Given the description of an element on the screen output the (x, y) to click on. 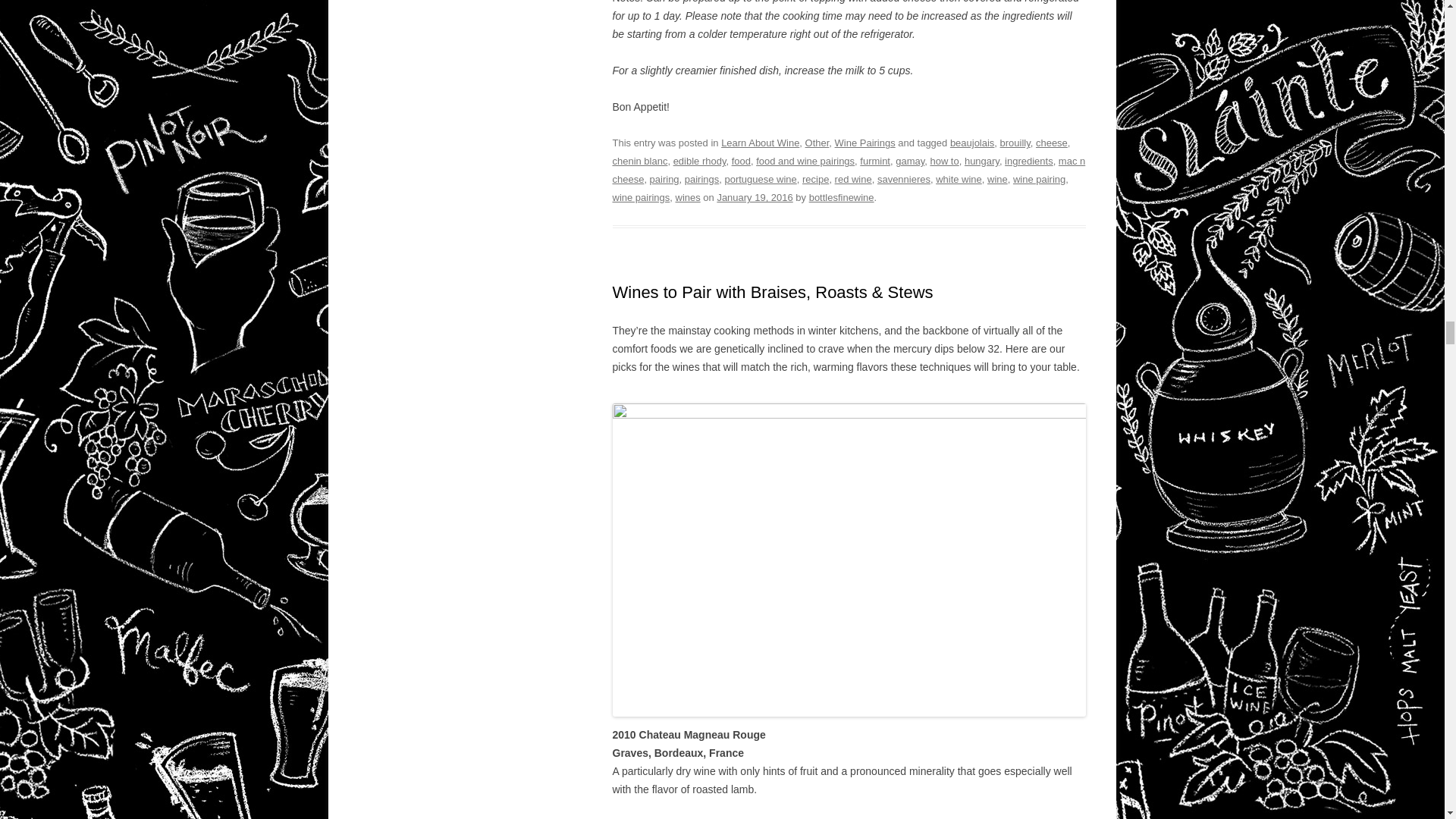
View all posts by bottlesfinewine (842, 197)
2:38 PM (754, 197)
